Given the description of an element on the screen output the (x, y) to click on. 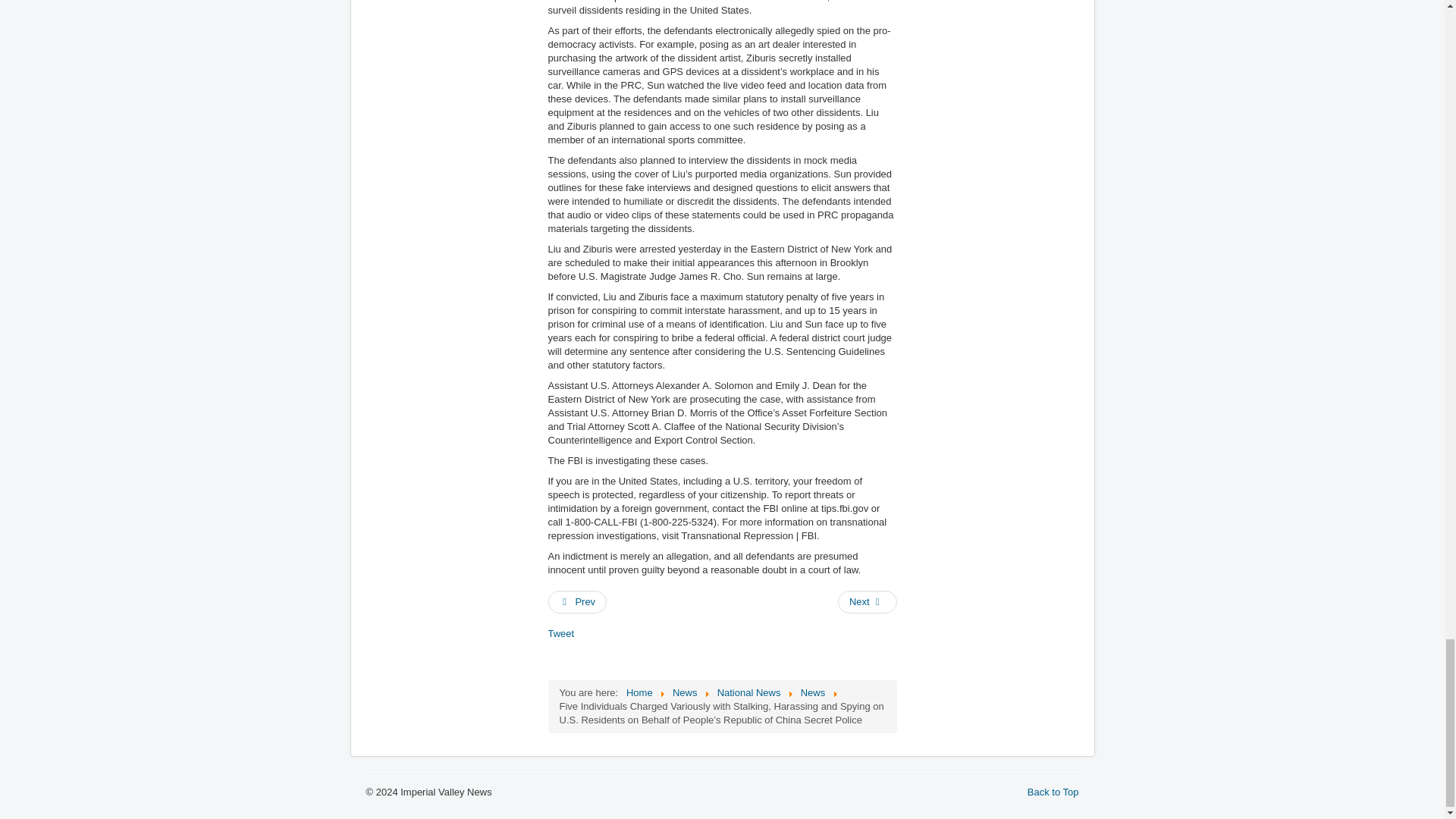
Home (639, 692)
News (812, 692)
National News (748, 692)
Next (867, 601)
Prev (577, 601)
Tweet (560, 633)
Back to Top (1052, 791)
News (684, 692)
